Given the description of an element on the screen output the (x, y) to click on. 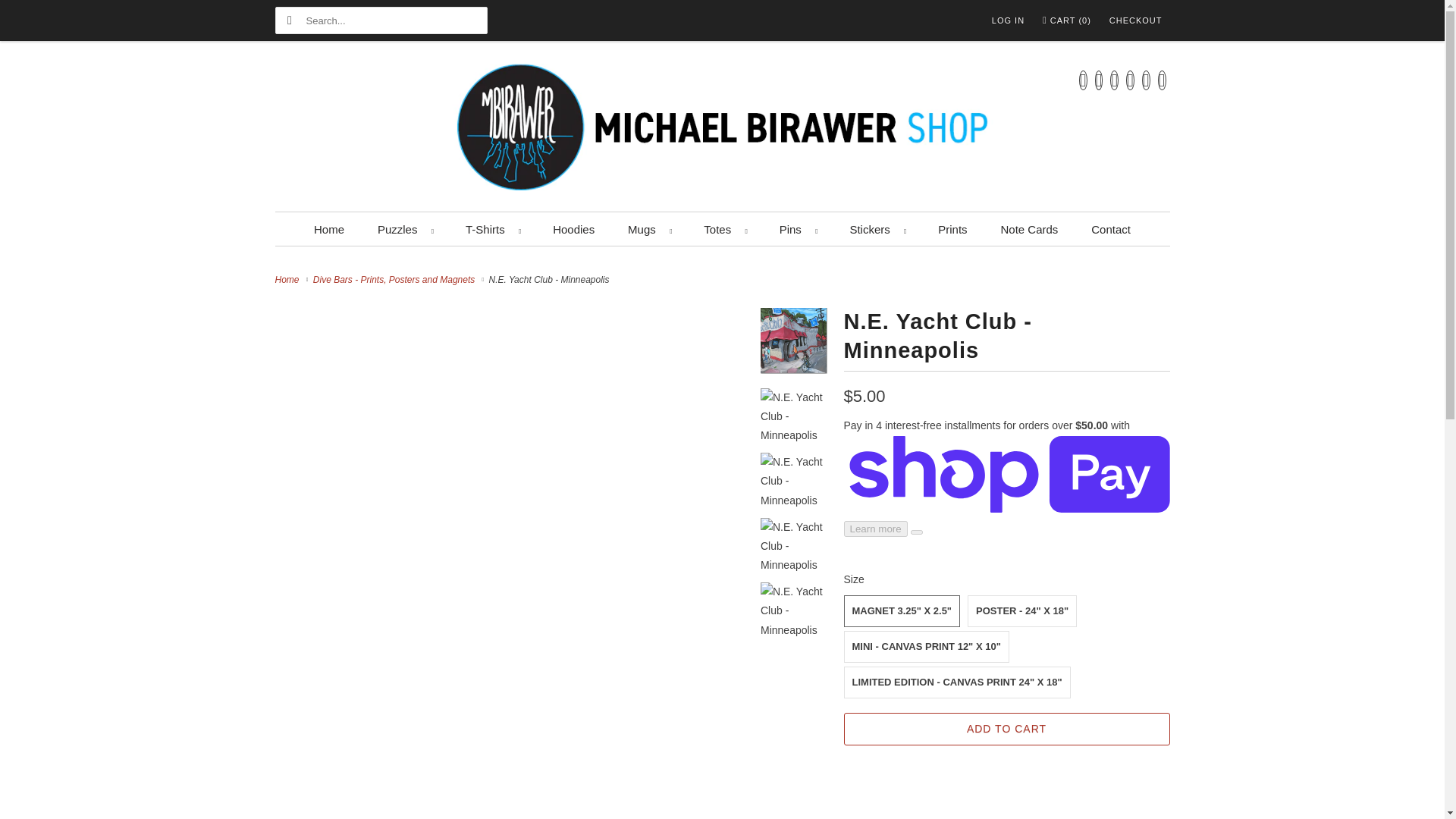
Michael Birawer Shop (722, 129)
CHECKOUT (1135, 20)
LOG IN (1008, 20)
Michael Birawer Shop (288, 279)
Dive Bars - Prints, Posters and Magnets (396, 279)
